Given the description of an element on the screen output the (x, y) to click on. 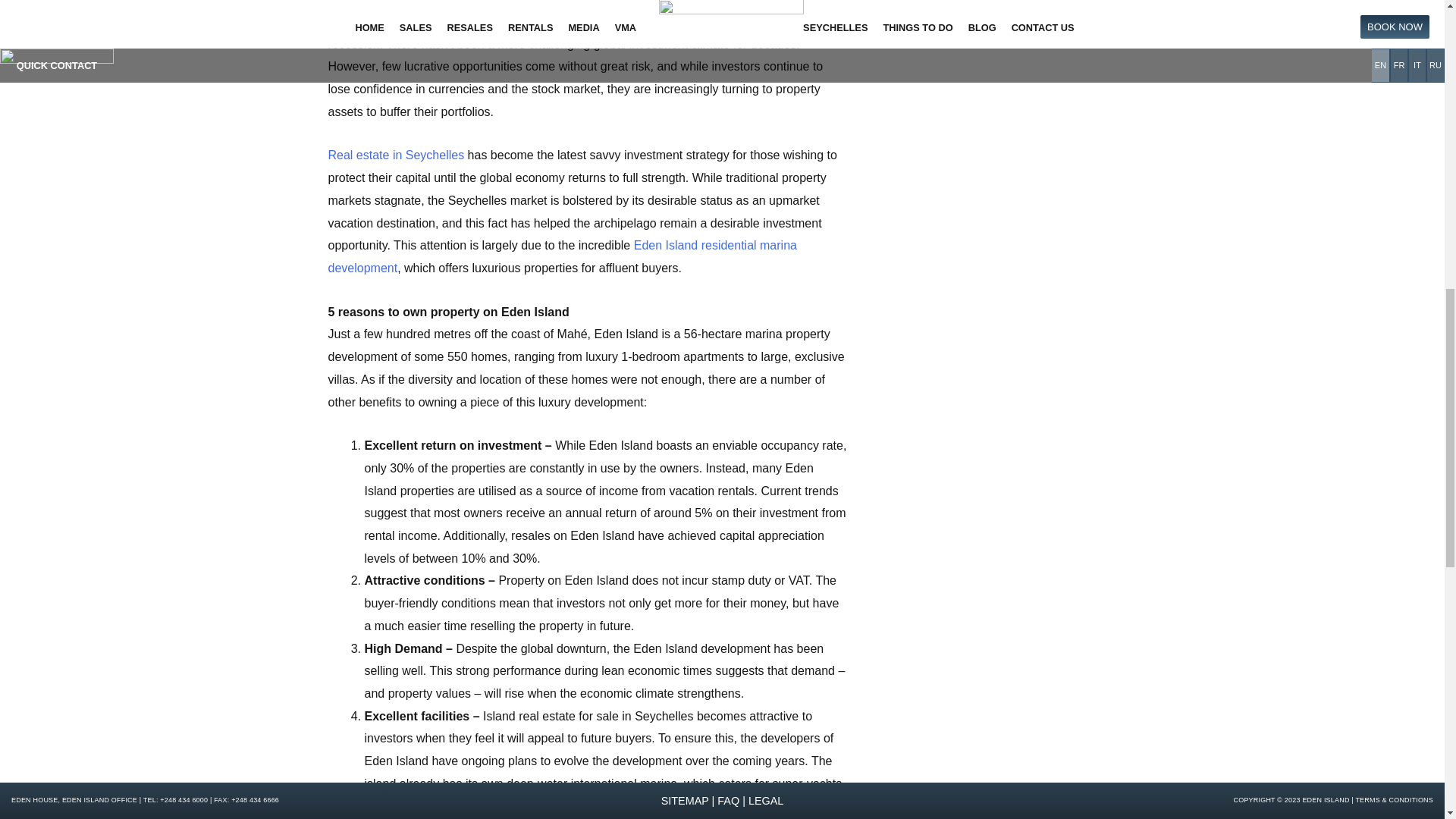
Eden Island (395, 154)
Eden Island Marina (561, 256)
